Given the description of an element on the screen output the (x, y) to click on. 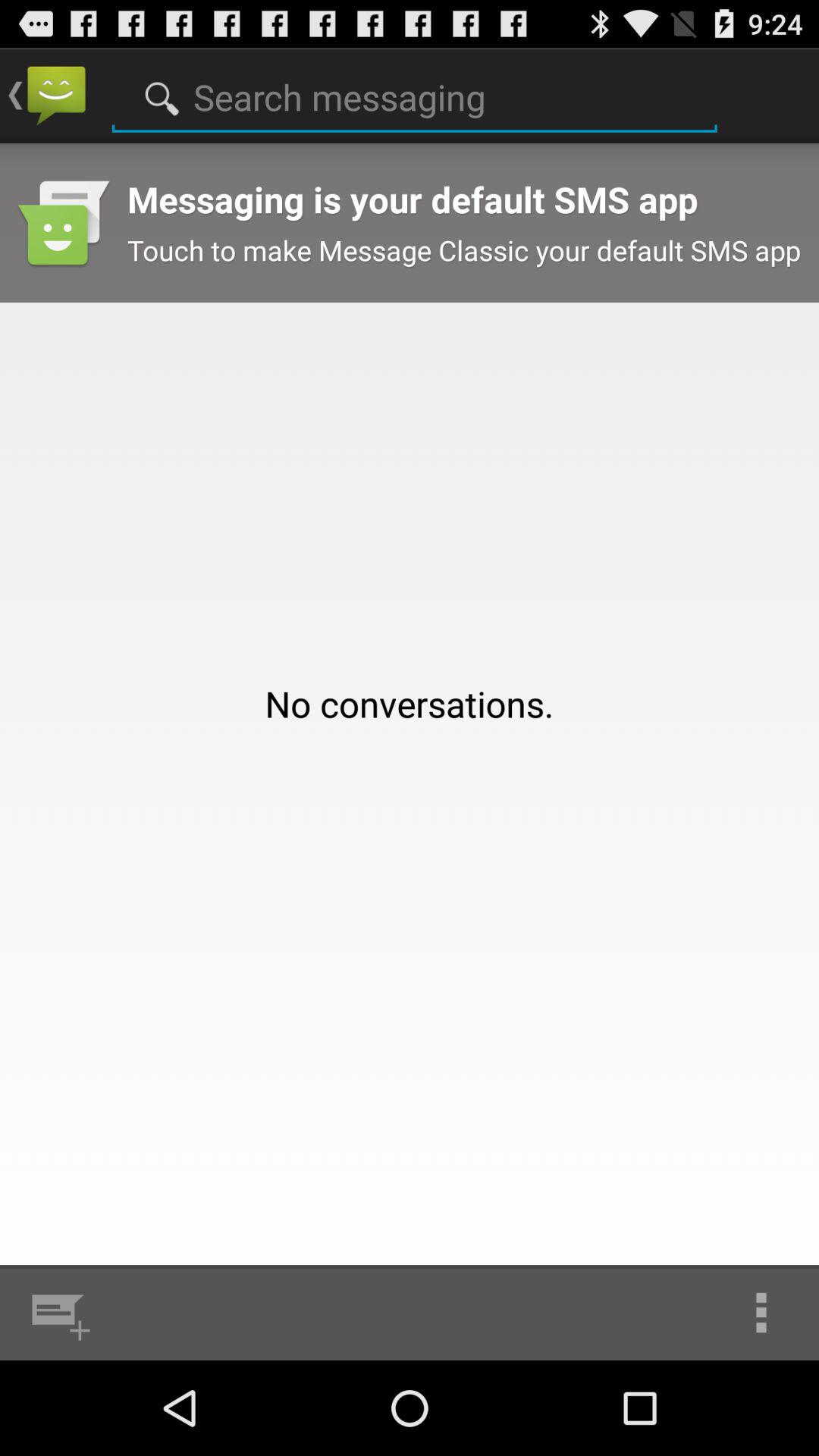
open the icon at the bottom right corner (760, 1312)
